Given the description of an element on the screen output the (x, y) to click on. 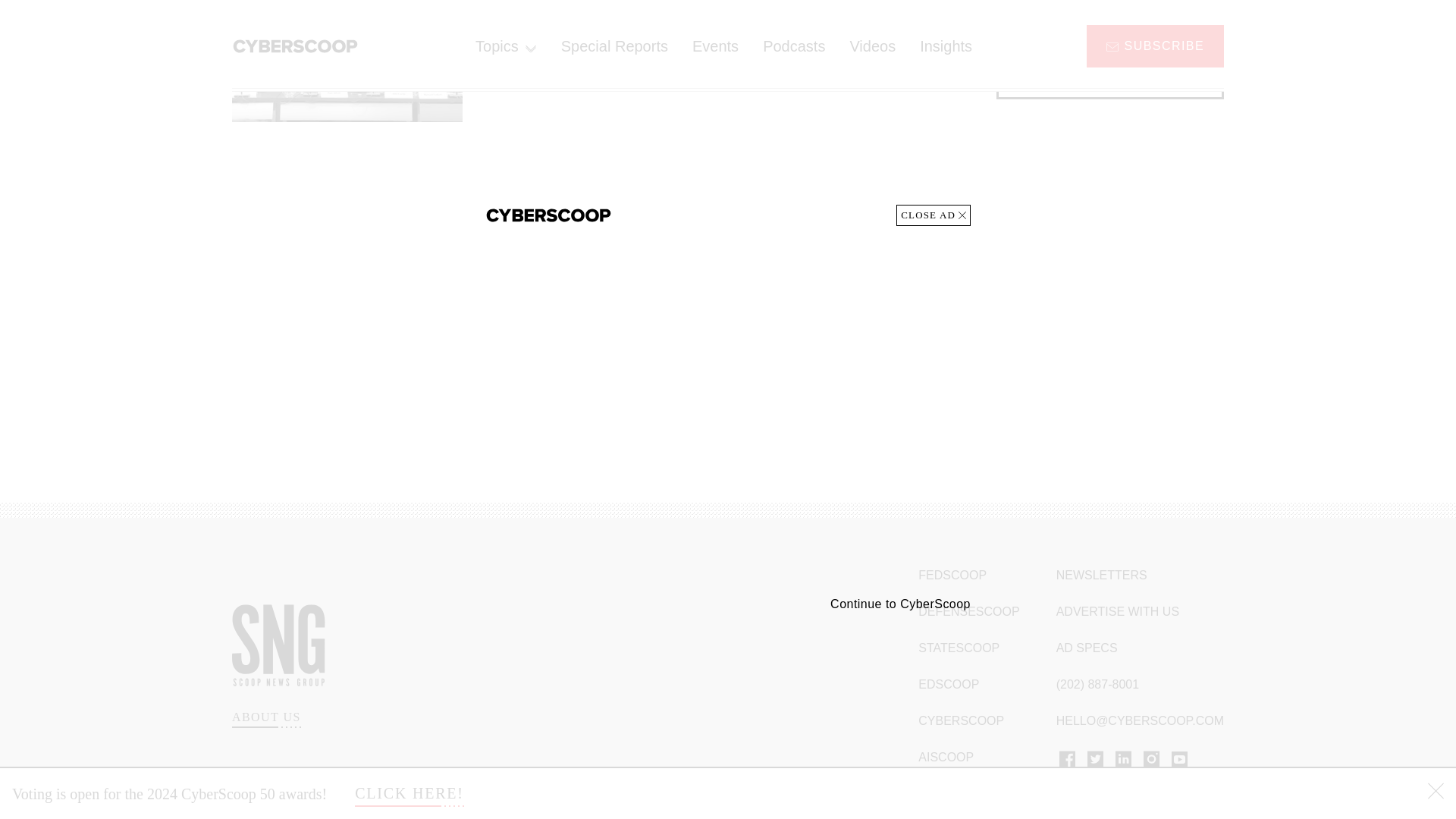
CLICK HERE! (409, 26)
